Given the description of an element on the screen output the (x, y) to click on. 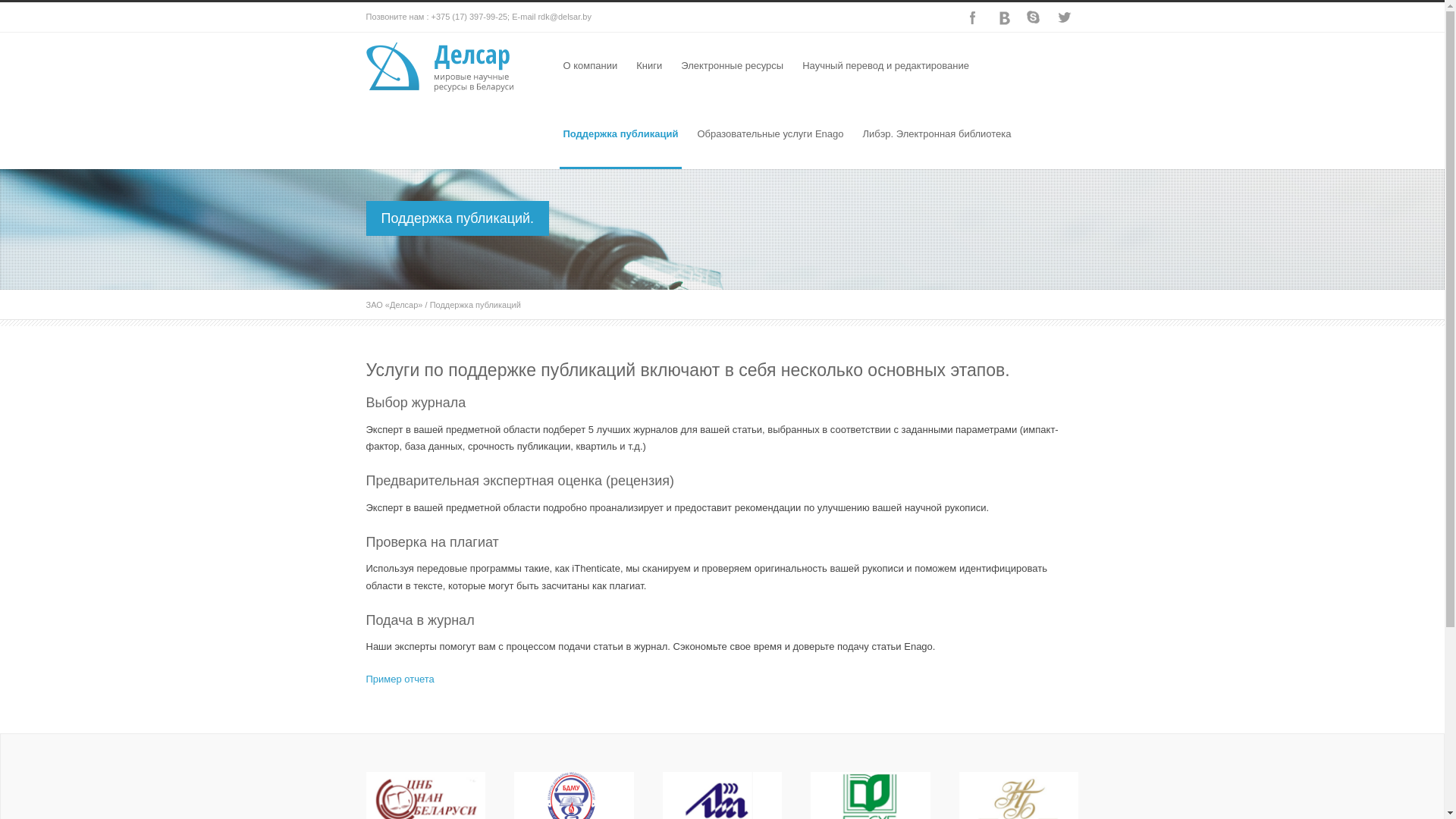
Facebook Element type: text (972, 17)
Twitter Element type: text (1063, 17)
Skype Element type: text (1032, 17)
Dribbble Element type: text (1002, 17)
